Given the description of an element on the screen output the (x, y) to click on. 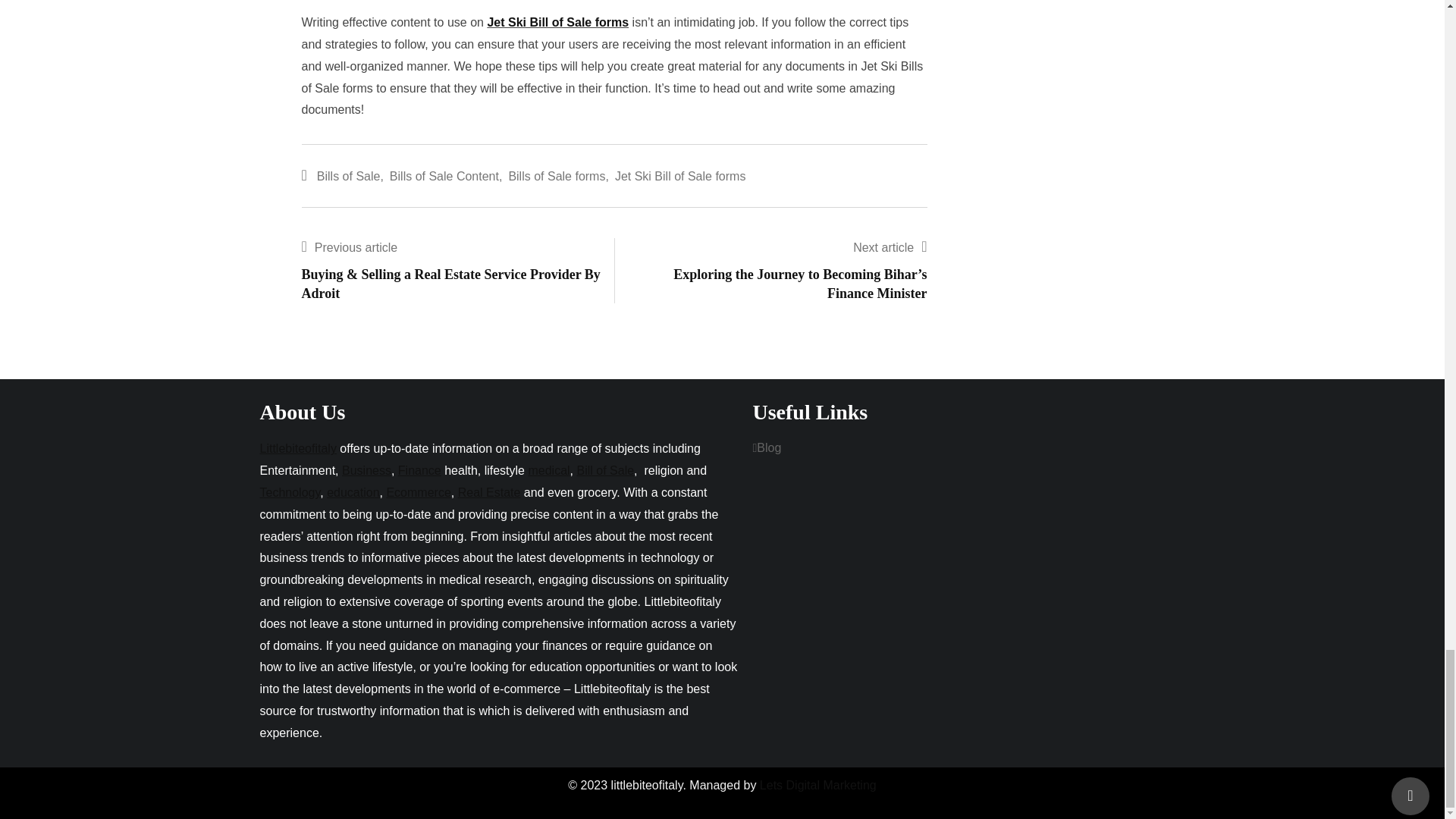
Jet Ski Bill of Sale forms (557, 21)
Bills of Sale forms (556, 176)
Bills of Sale (348, 176)
Previous article (355, 246)
Jet Ski Bill of Sale forms (679, 176)
Bills of Sale Content (444, 176)
